Given the description of an element on the screen output the (x, y) to click on. 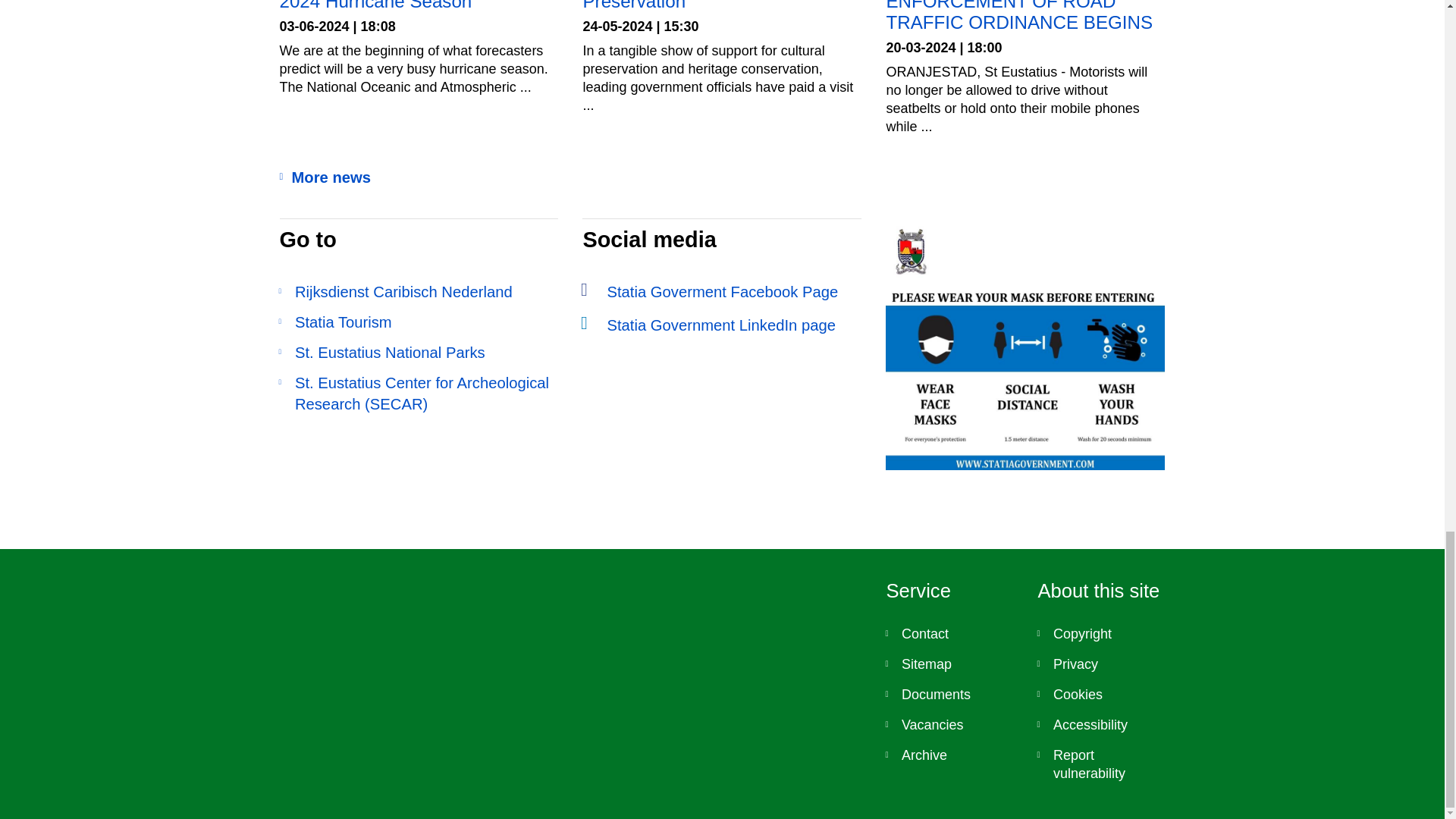
More news (734, 177)
Report vulnerability (1100, 764)
Sitemap (949, 664)
Privacy (1100, 664)
Vacancies (949, 725)
St. Eustatius National Parks (418, 352)
Contact (949, 634)
Statia Goverment Facebook Page (721, 291)
Rijksdienst Caribisch Nederland (418, 291)
Statia Government LinkedIn page (721, 324)
Accessibility (1100, 725)
Documents (949, 694)
Cookies (1100, 694)
Archive (949, 755)
Statia Tourism (418, 322)
